Given the description of an element on the screen output the (x, y) to click on. 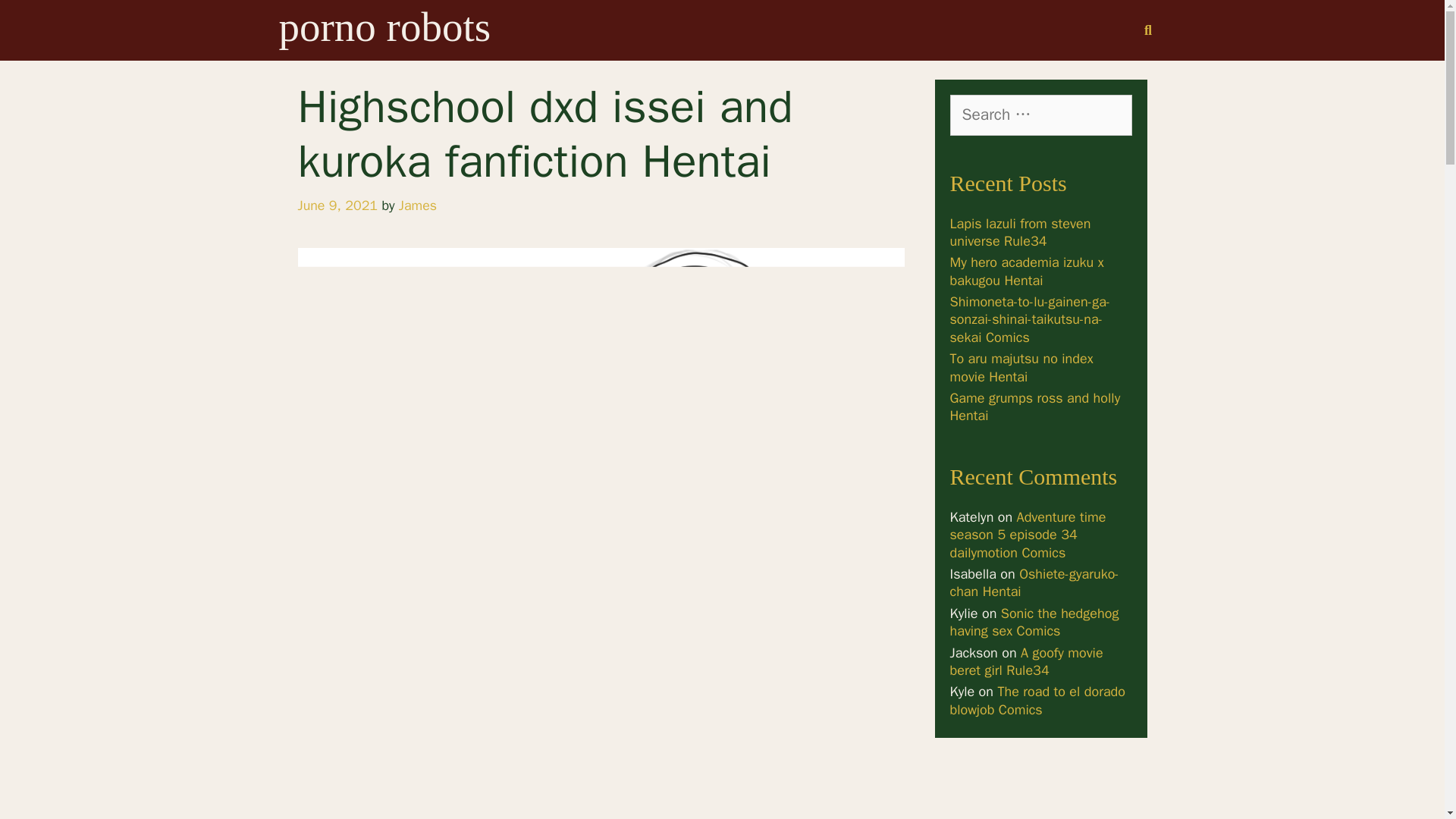
View all posts by James (417, 205)
The road to el dorado blowjob Comics (1037, 700)
1:55 am (337, 205)
A goofy movie beret girl Rule34 (1025, 661)
Search for: (1040, 115)
To aru majutsu no index movie Hentai (1021, 367)
Adventure time season 5 episode 34 dailymotion Comics (1027, 534)
Sonic the hedgehog having sex Comics (1033, 622)
June 9, 2021 (337, 205)
